Given the description of an element on the screen output the (x, y) to click on. 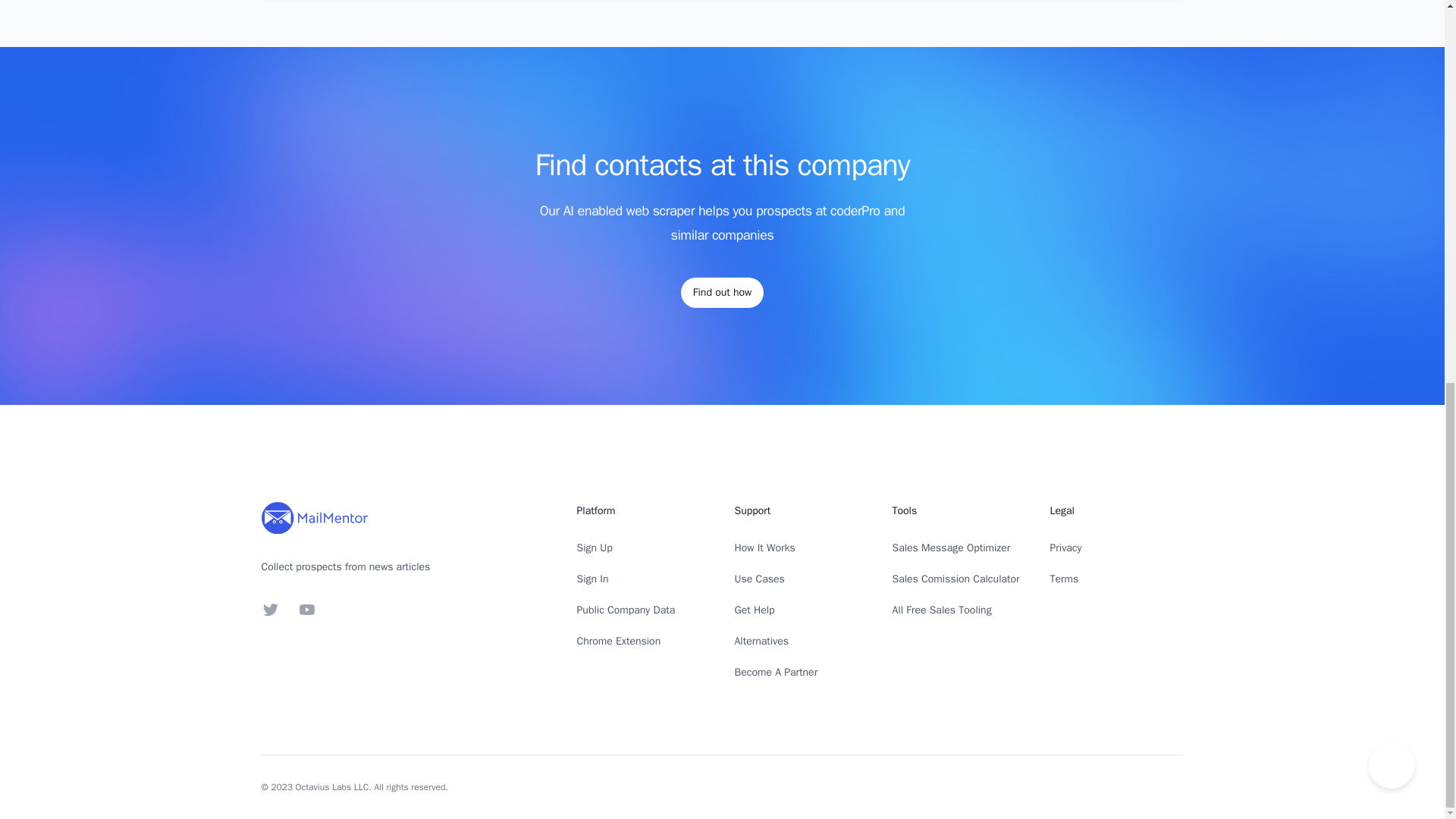
Sales Comission Calculator (955, 578)
All Free Sales Tooling (941, 609)
How It Works (763, 547)
Twitter (269, 609)
Find out how (721, 292)
Privacy (1065, 547)
Public Company Data (625, 609)
Octavius Labs LLC (332, 787)
Alternatives (761, 640)
Get Help (753, 609)
